Given the description of an element on the screen output the (x, y) to click on. 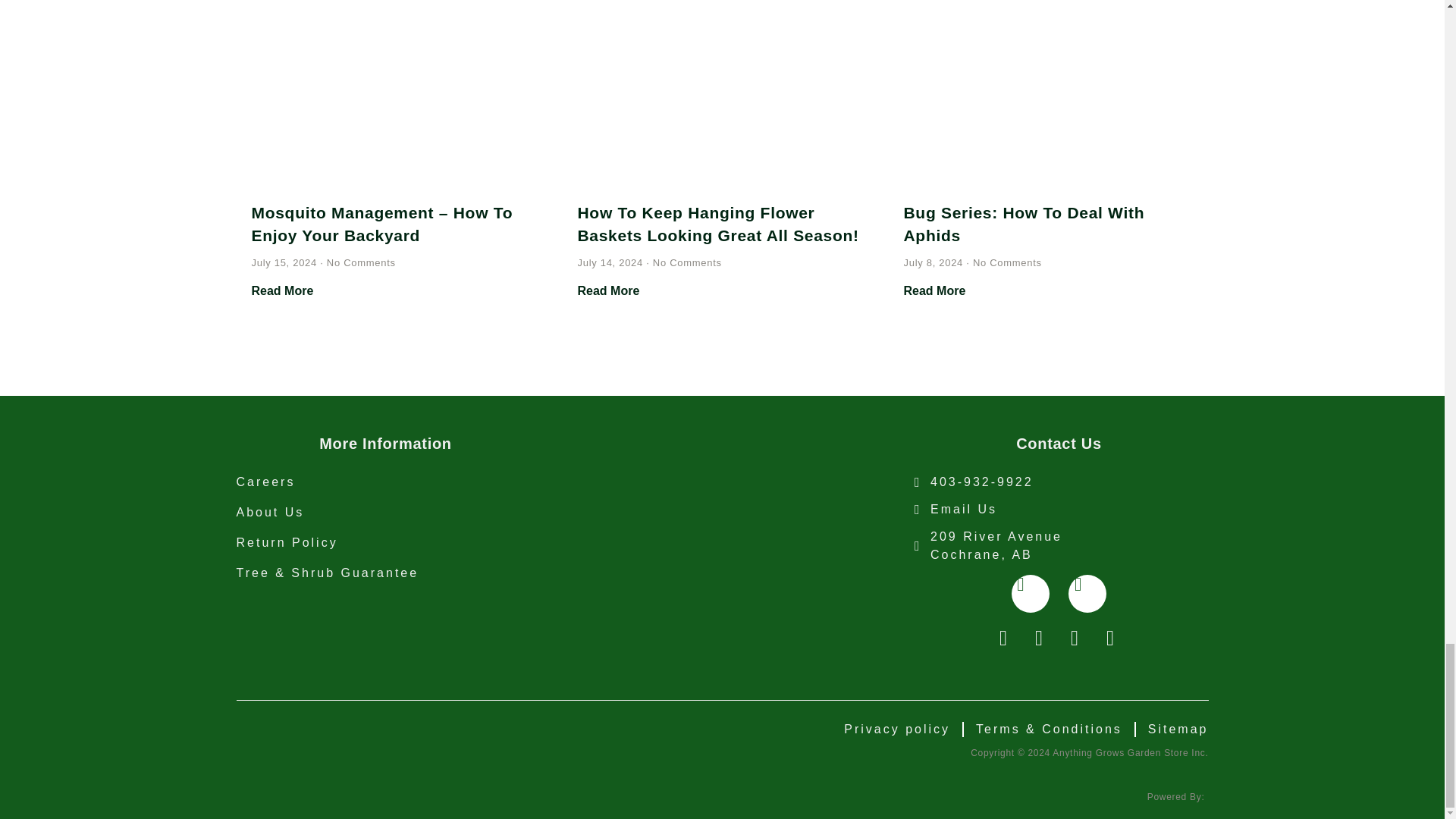
Social Oak Agency Website (1177, 796)
